Given the description of an element on the screen output the (x, y) to click on. 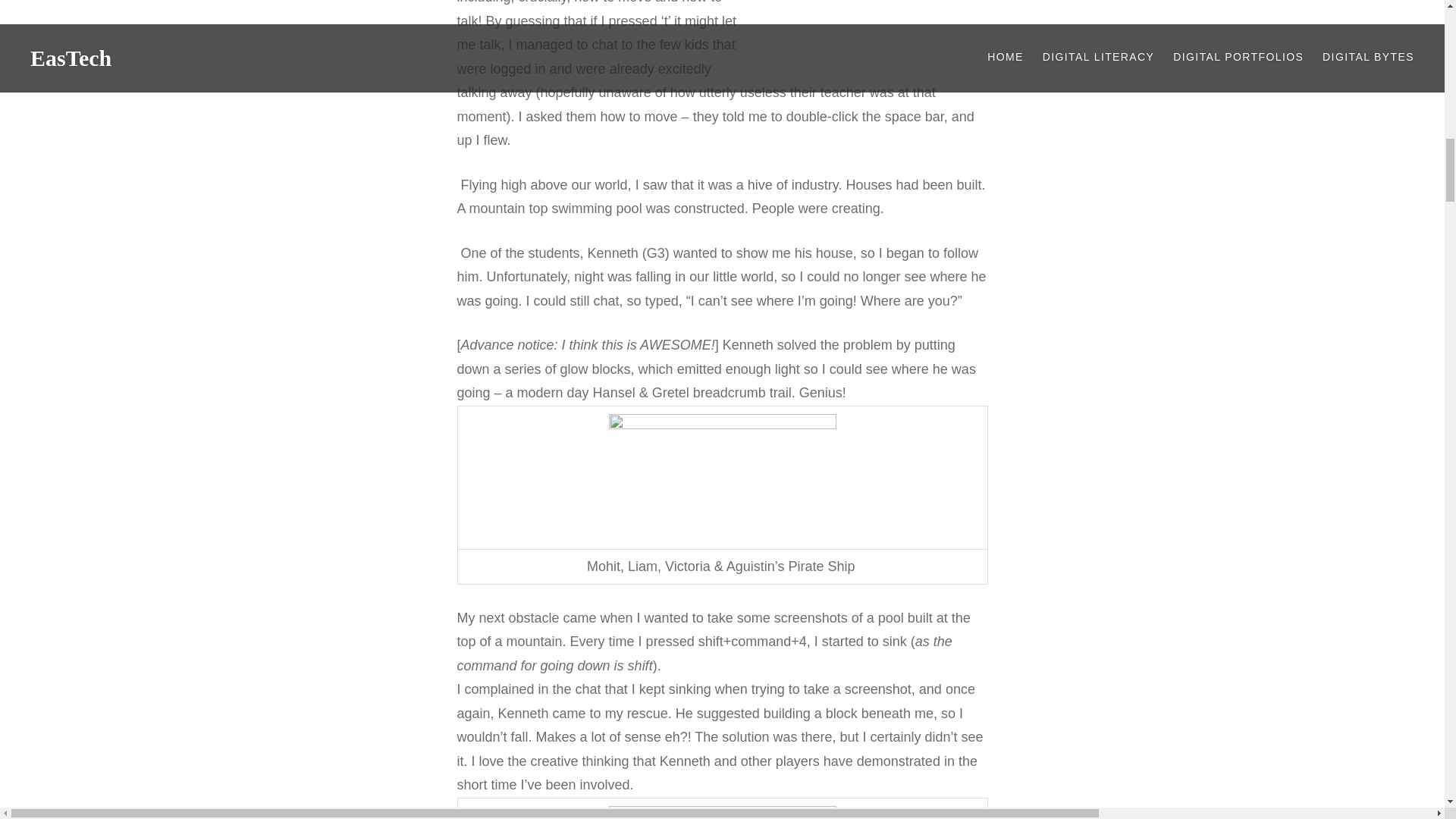
Screen Shot 2012-02-13 at 8.58.08 PM (873, 19)
